Given the description of an element on the screen output the (x, y) to click on. 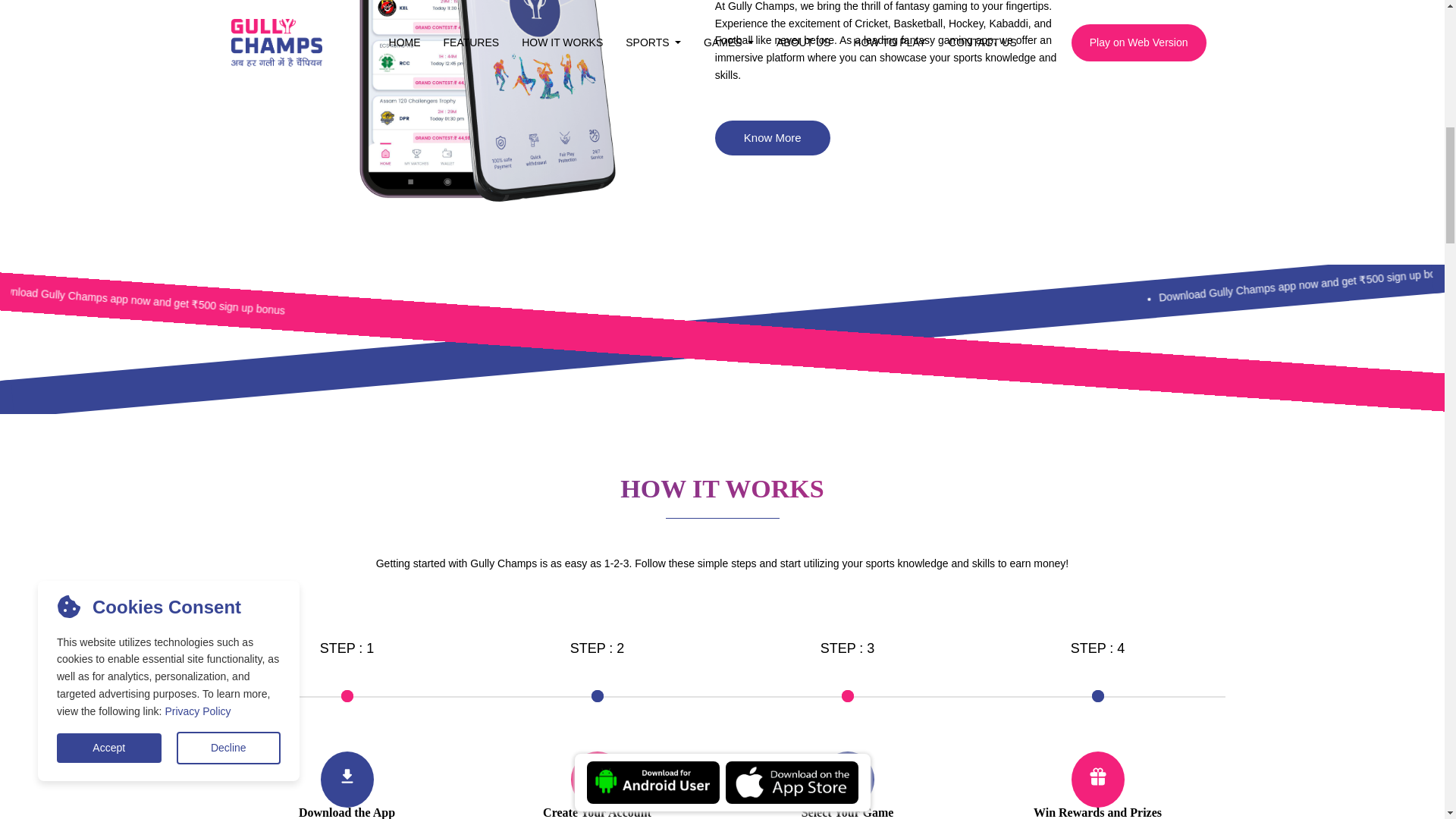
Know More (771, 137)
